Given the description of an element on the screen output the (x, y) to click on. 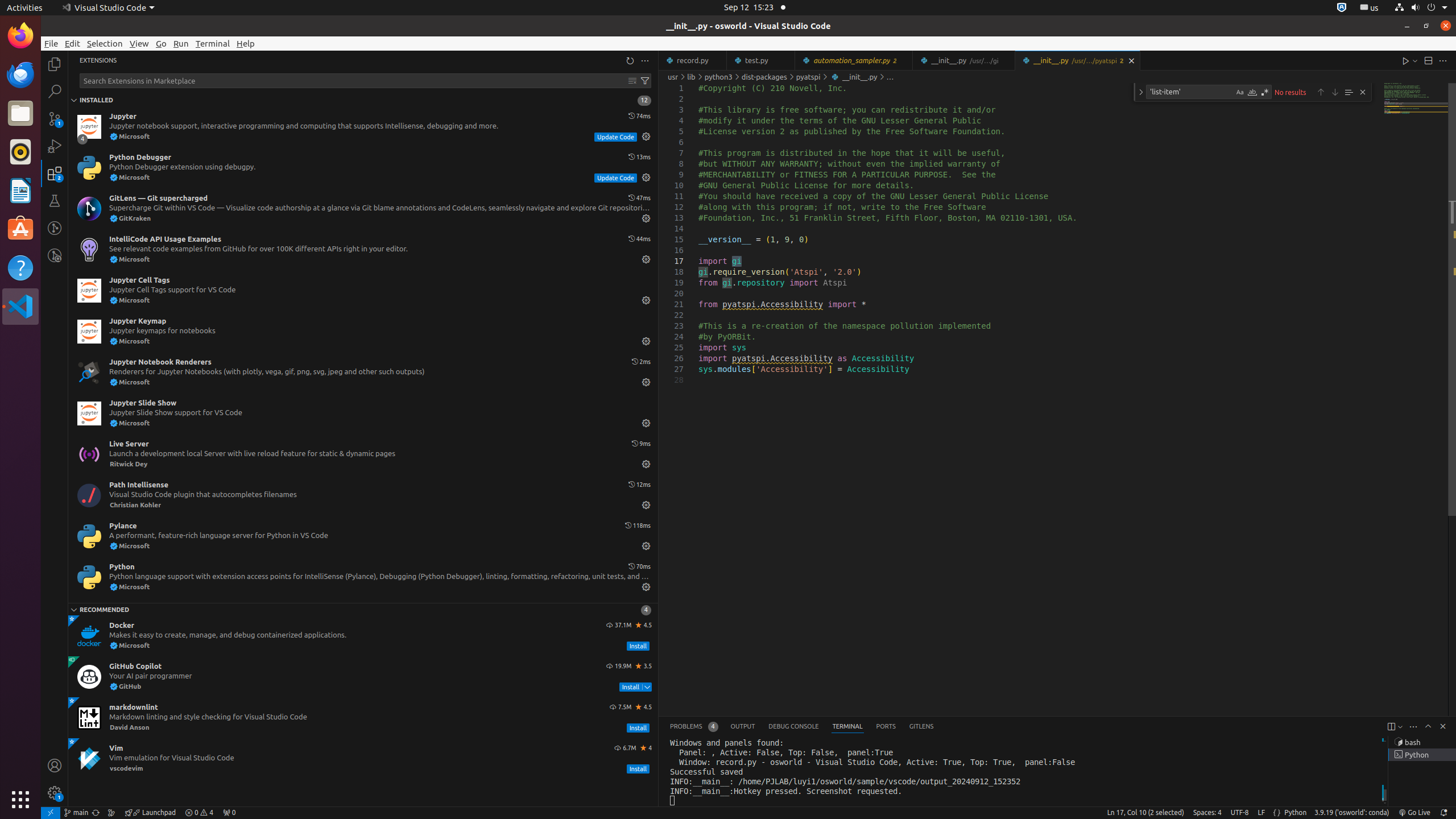
Notifications Element type: push-button (1443, 812)
Ports Element type: page-tab (885, 726)
Python Debugger, 2024.10.0, Verified Publisher Microsoft, Python Debugger extension using debugpy. , Rated 4.88 out of 5 stars by 8 users Element type: list-item (363, 167)
